Given the description of an element on the screen output the (x, y) to click on. 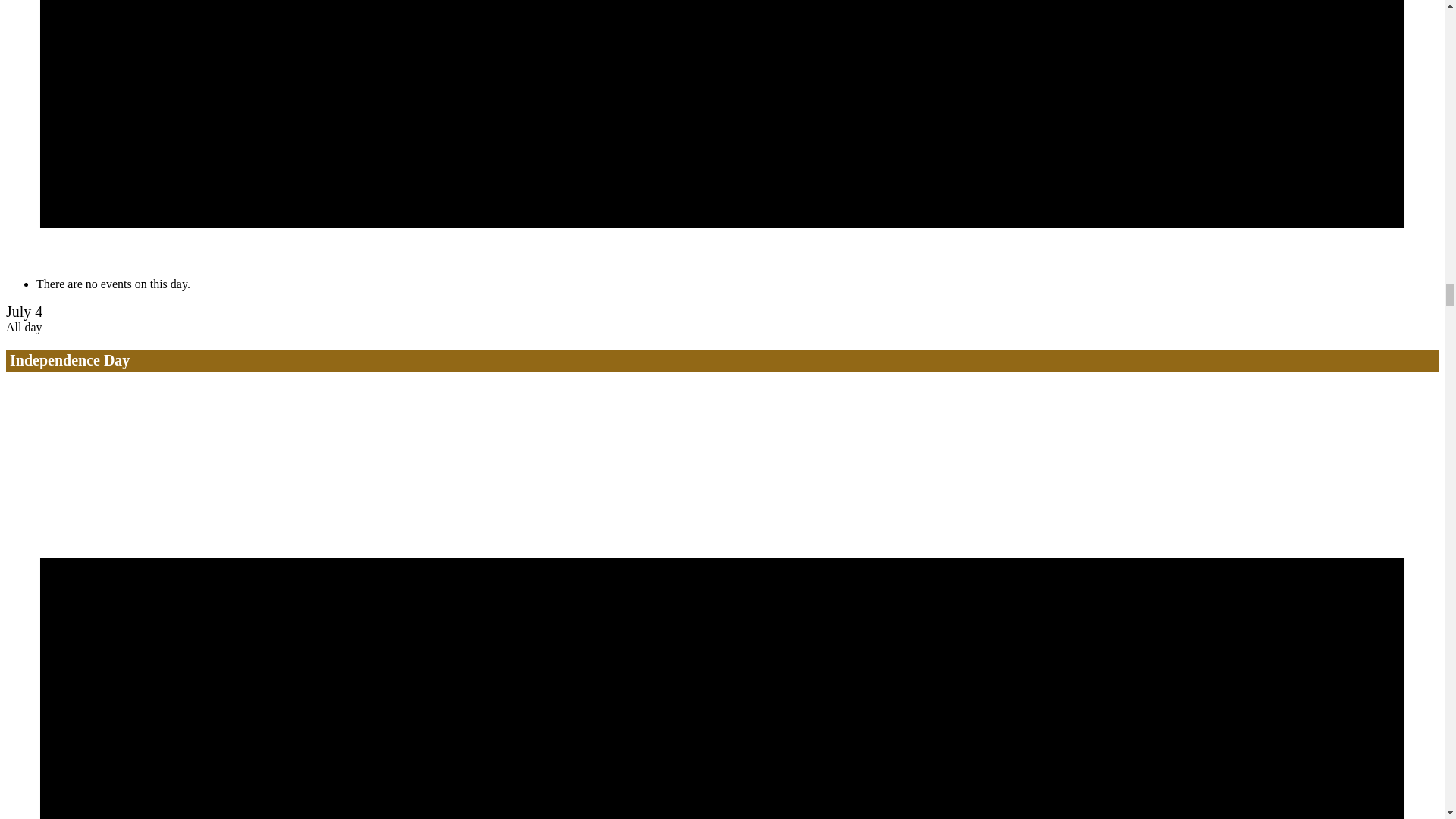
Independence Day (69, 360)
